Given the description of an element on the screen output the (x, y) to click on. 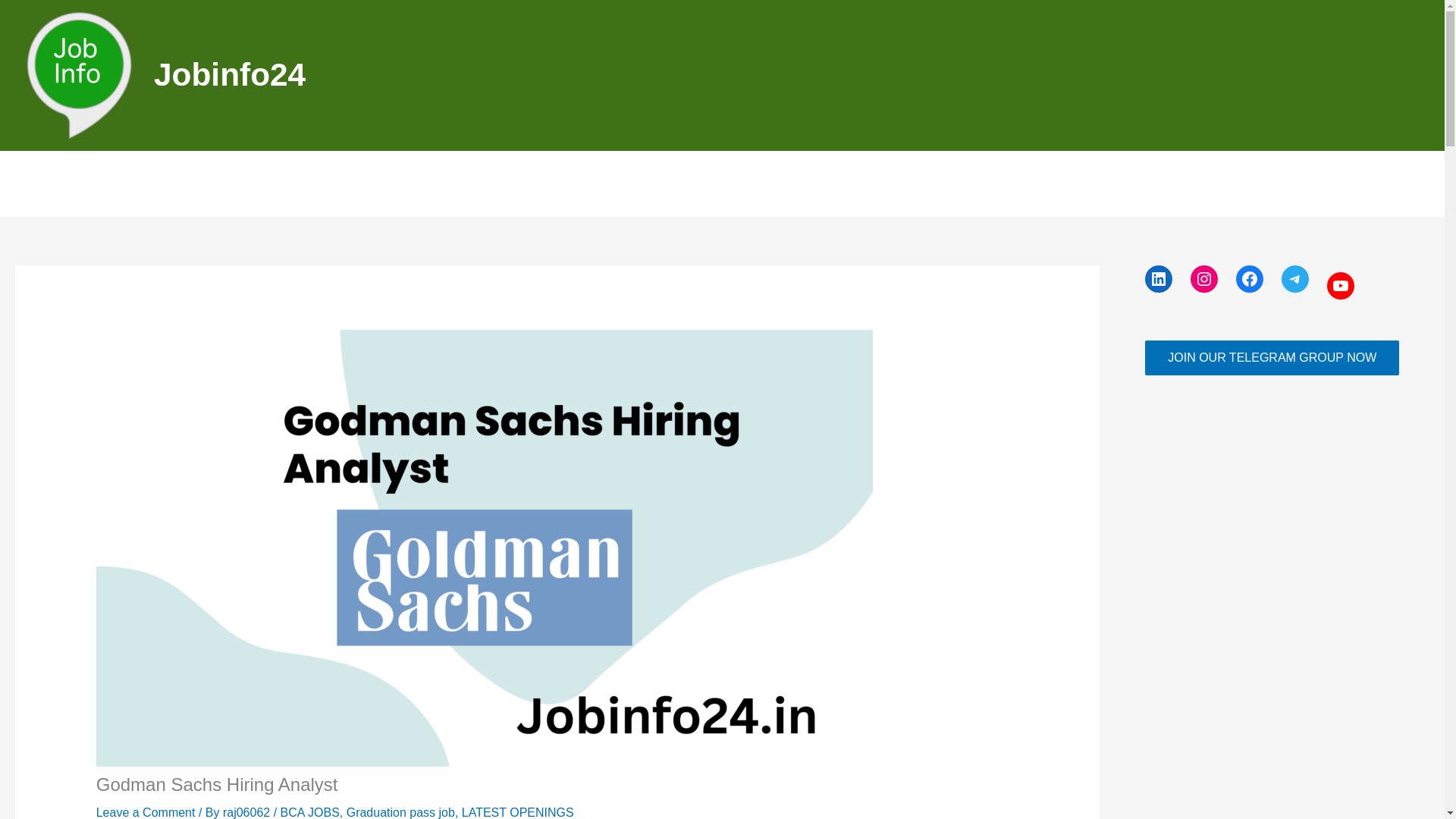
Graduation pass job (400, 812)
Software Developer Job (876, 183)
LATEST OPENINGS (517, 812)
View all posts by raj06062 (247, 812)
Leave a Comment (145, 812)
Work From Home Jobs (739, 183)
raj06062 (247, 812)
BCA JOBS (310, 812)
Graduation Pass Job (611, 183)
Jobinfo24 (229, 74)
